Given the description of an element on the screen output the (x, y) to click on. 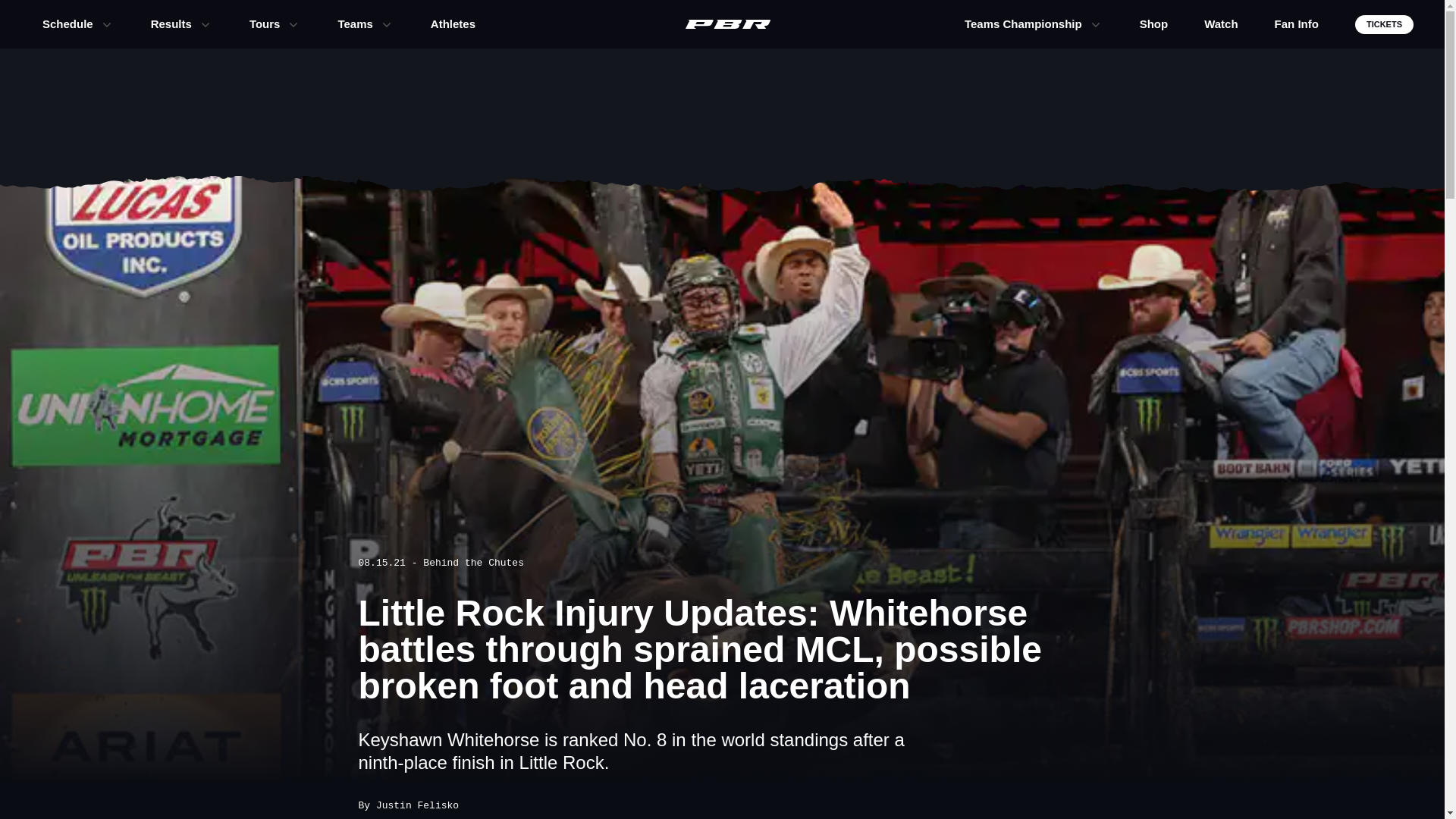
Athletes (453, 24)
Shop (1154, 24)
Watch (1220, 24)
Fan Info (1297, 24)
TICKETS (1384, 24)
